Given the description of an element on the screen output the (x, y) to click on. 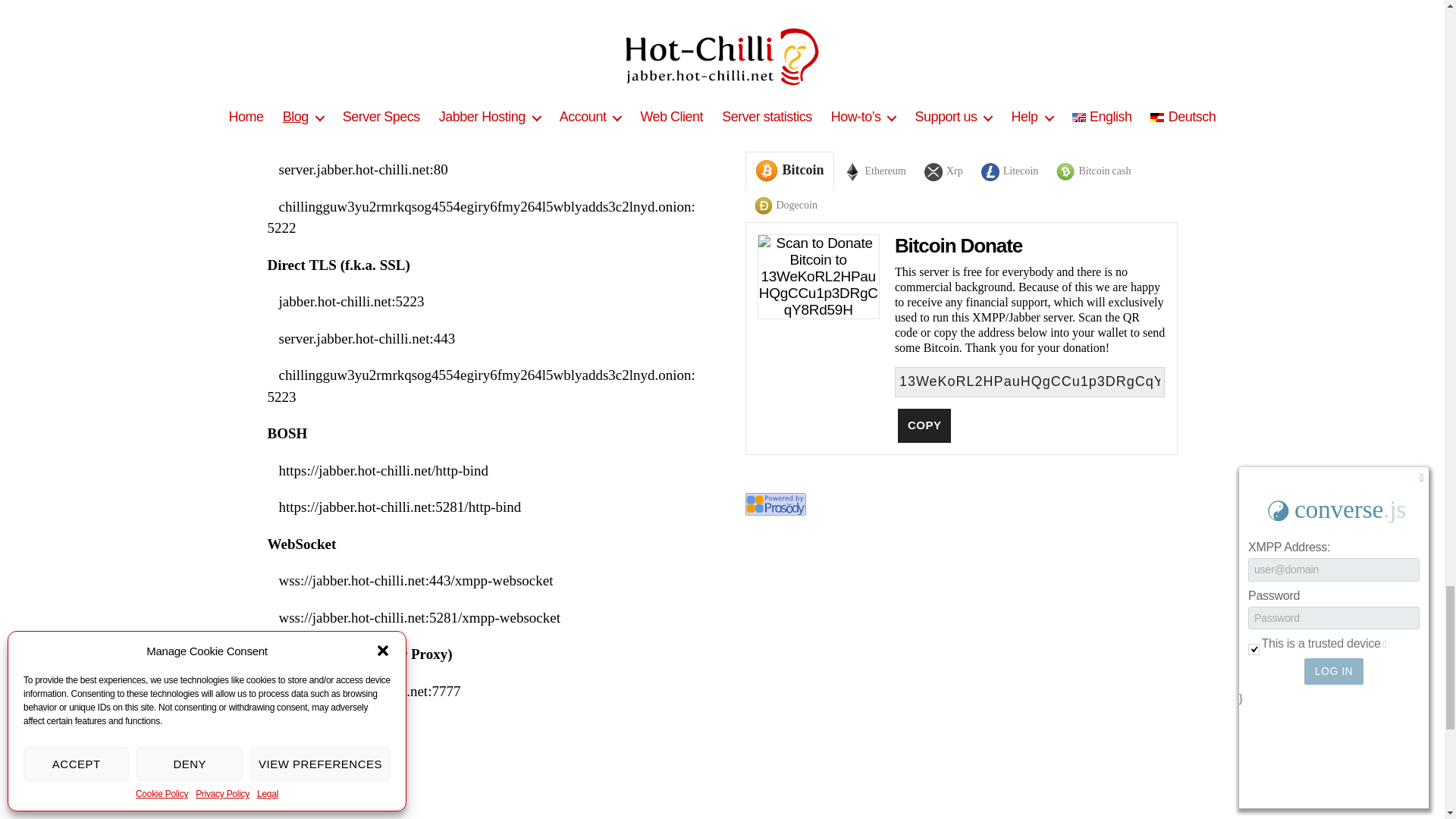
13WeKoRL2HPauHQgCCu1p3DRgCqY8Rd59H (1030, 381)
